Given the description of an element on the screen output the (x, y) to click on. 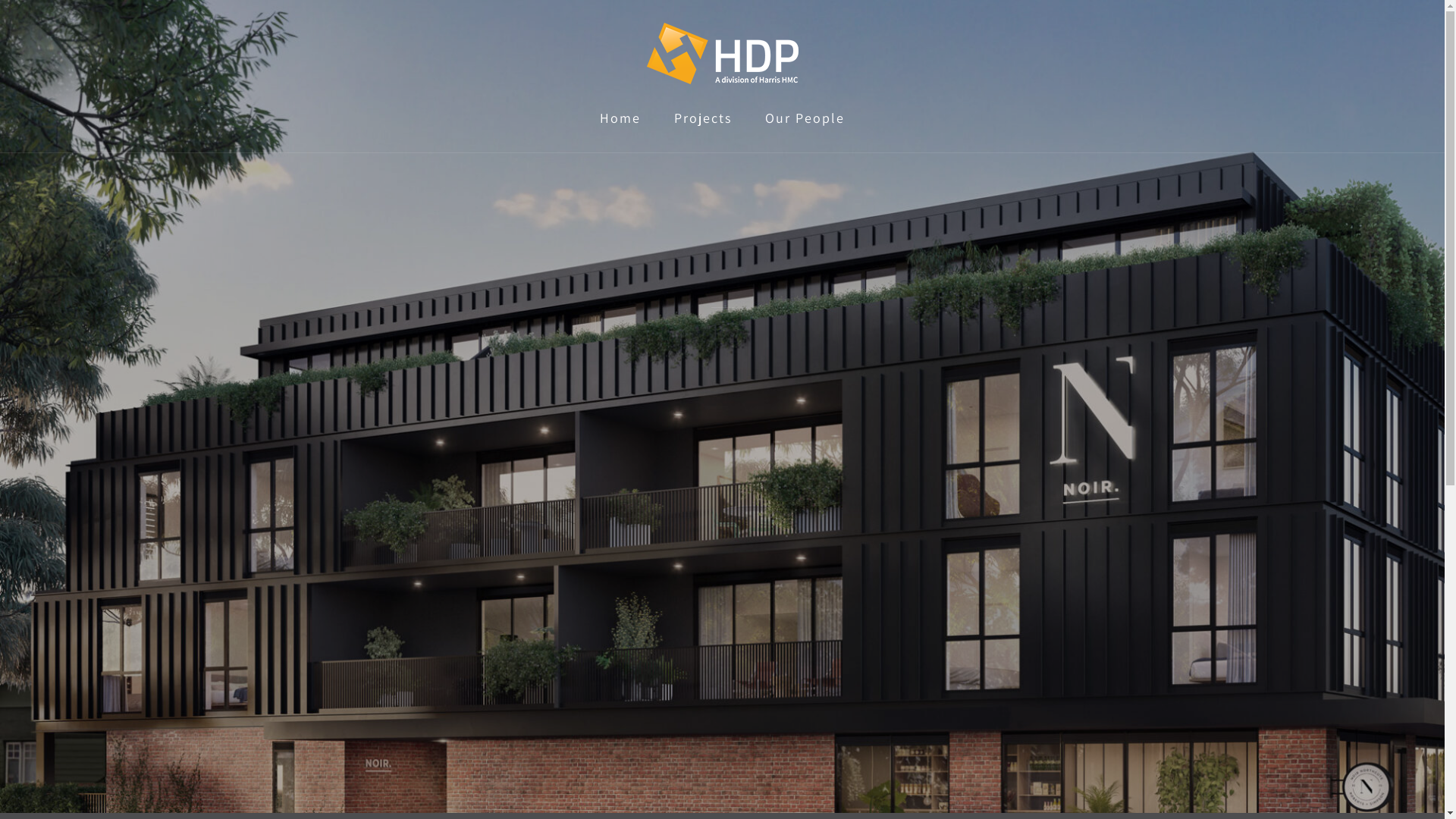
Our People Element type: text (804, 118)
Home Element type: text (619, 118)
Projects Element type: text (702, 118)
